Given the description of an element on the screen output the (x, y) to click on. 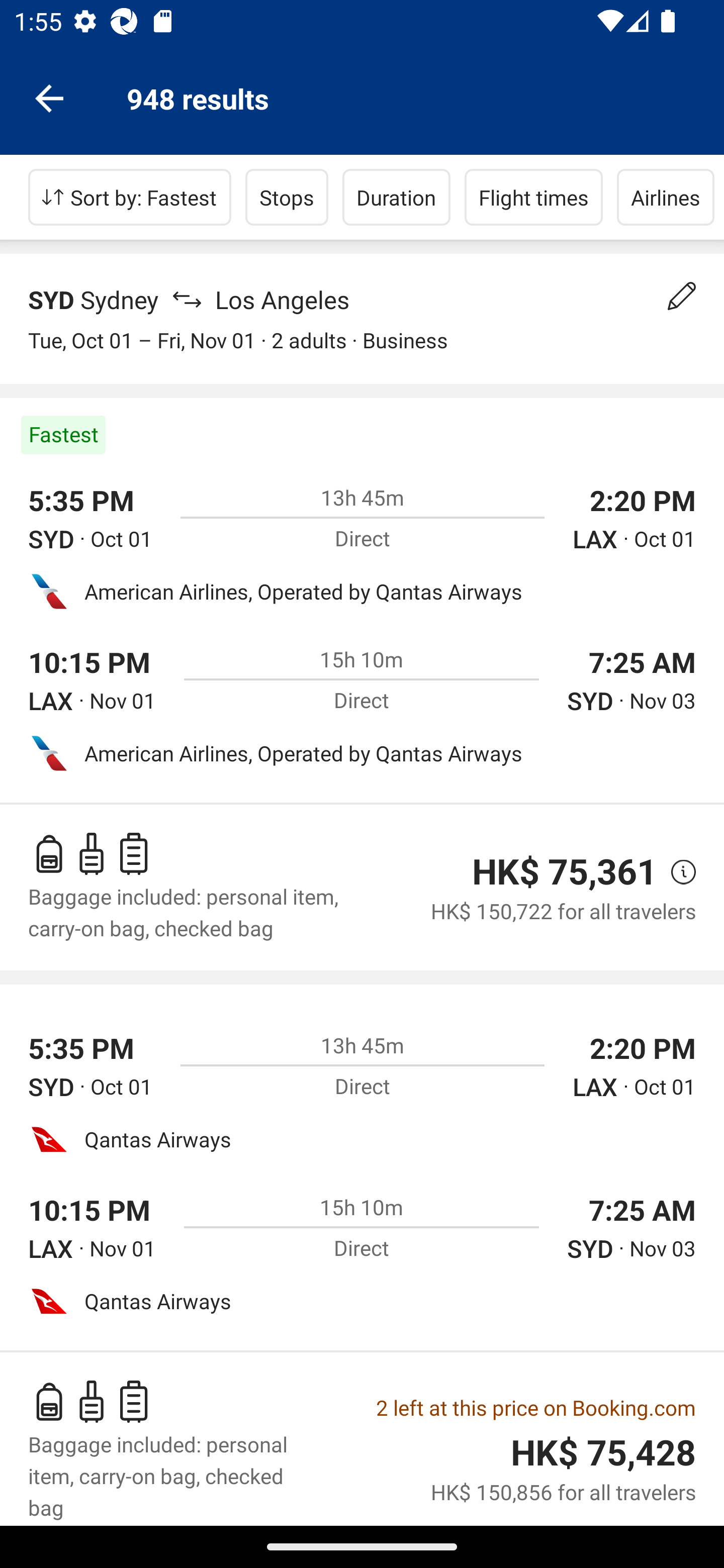
Navigate up (49, 97)
Sort by: Fastest (129, 197)
Stops (286, 197)
Duration (396, 197)
Flight times (533, 197)
Airlines (665, 197)
Change your search details (681, 296)
HK$ 75,361 (564, 871)
view price details, opens a pop-up (676, 872)
HK$ 75,428 (603, 1452)
